Given the description of an element on the screen output the (x, y) to click on. 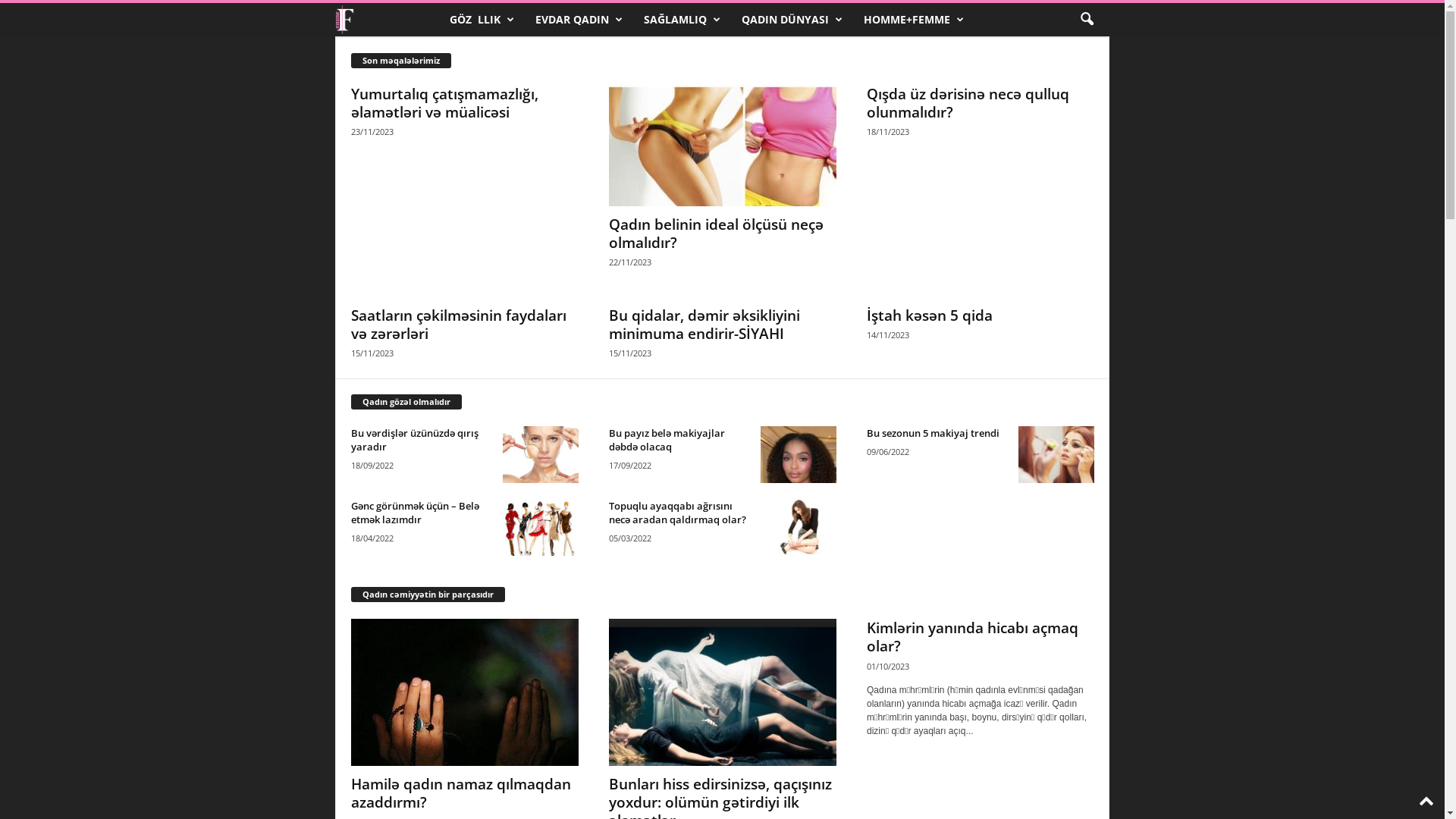
Bu sezonun 5 makiyaj trendi Element type: text (932, 432)
Femme.az Element type: text (386, 20)
EVDAR QADIN Element type: text (578, 19)
HOMME+FEMME Element type: text (912, 19)
Bu sezonun 5 makiyaj trendi Element type: hover (1056, 454)
